Given the description of an element on the screen output the (x, y) to click on. 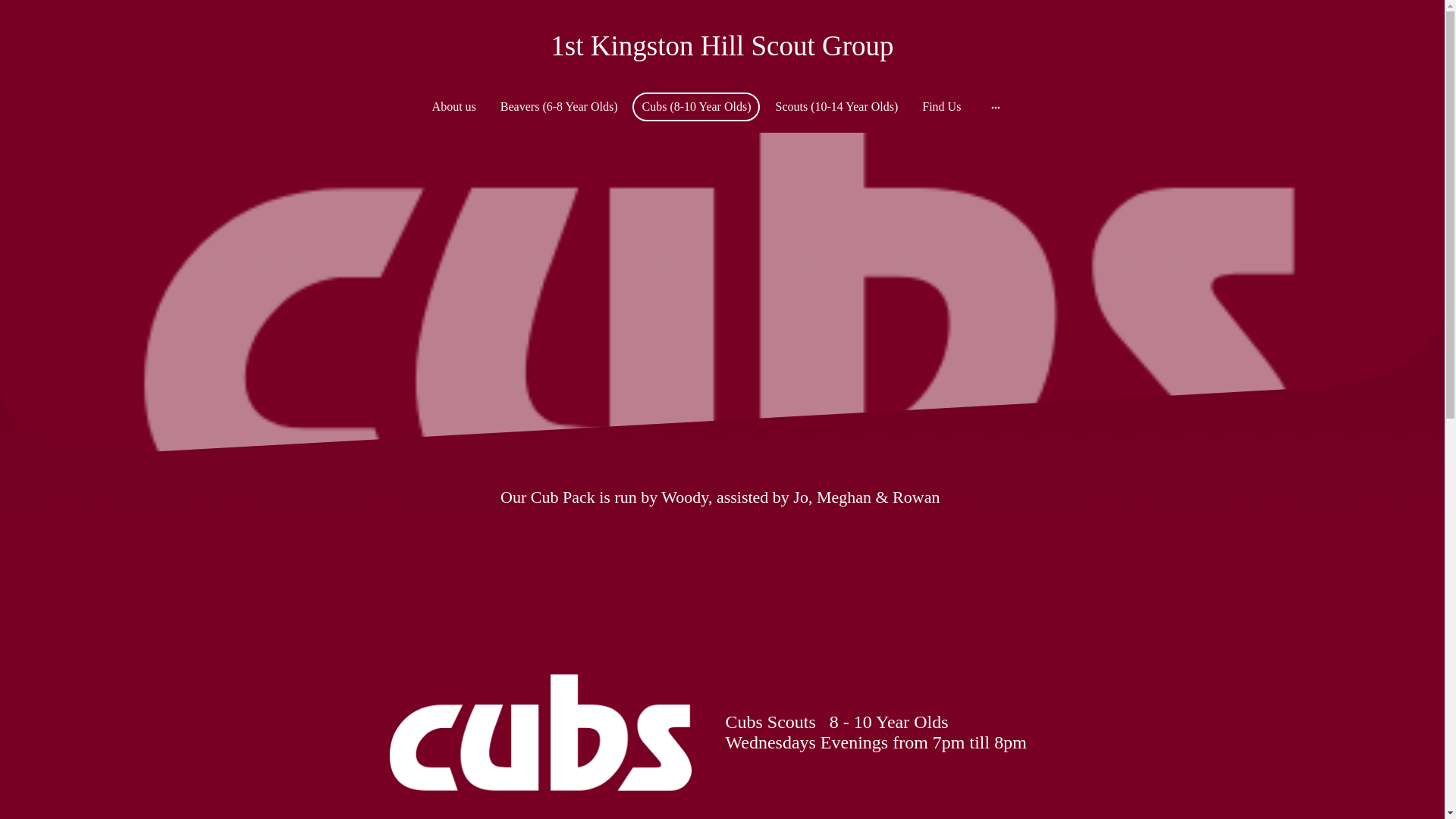
1st Kingston Hill Scout Group (722, 45)
About us (454, 106)
Find Us (941, 106)
